Given the description of an element on the screen output the (x, y) to click on. 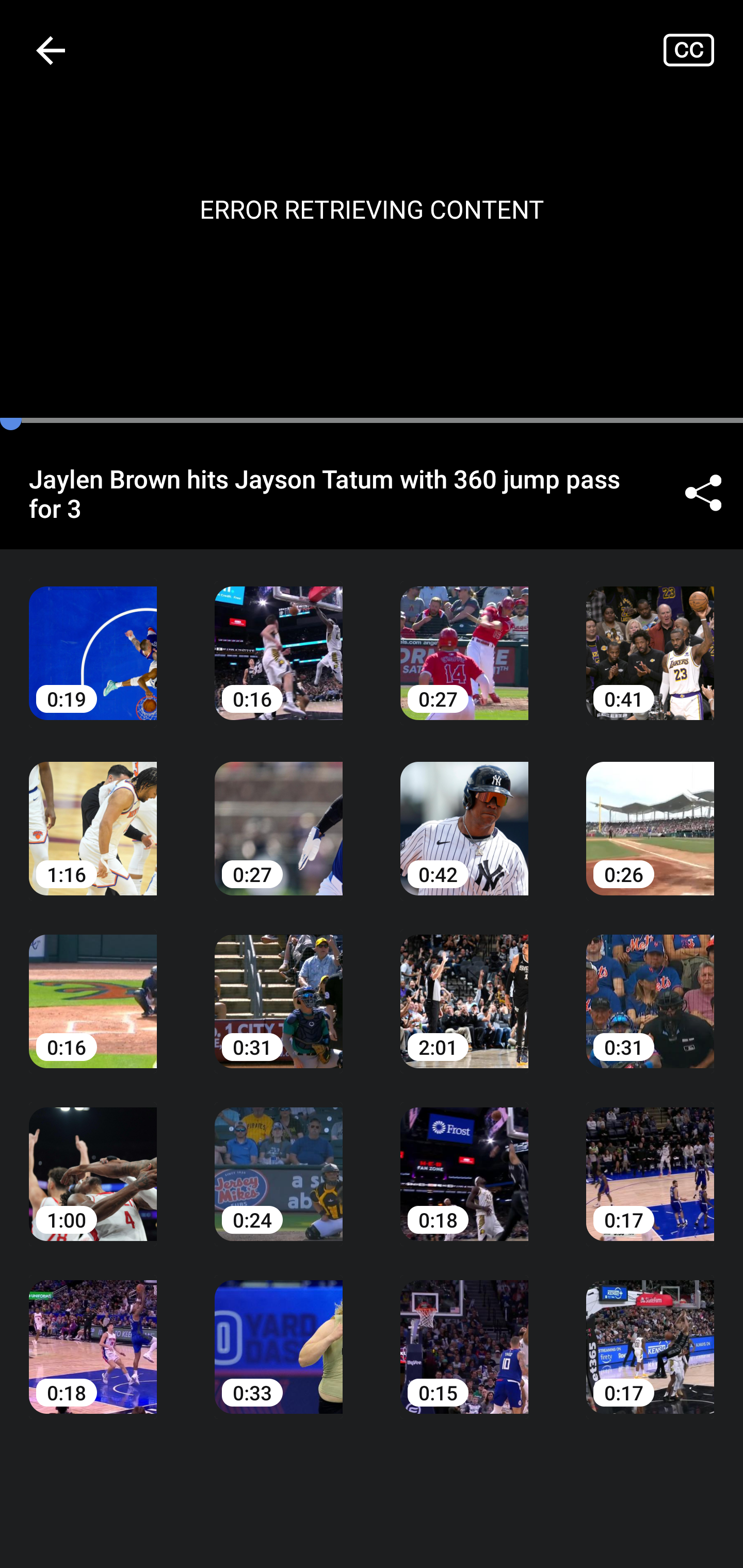
Navigate up (50, 50)
Closed captions  (703, 49)
Share © (703, 493)
0:19 (92, 637)
0:16 (278, 637)
0:27 (464, 637)
0:41 (650, 637)
1:16 (92, 813)
0:27 (278, 813)
0:42 (464, 813)
0:26 (650, 813)
0:16 (92, 987)
0:31 (278, 987)
2:01 (464, 987)
0:31 (650, 987)
1:00 (92, 1160)
0:24 (278, 1160)
0:18 (464, 1160)
0:17 (650, 1160)
0:18 (92, 1332)
0:33 (278, 1332)
0:15 (464, 1332)
0:17 (650, 1332)
